Given the description of an element on the screen output the (x, y) to click on. 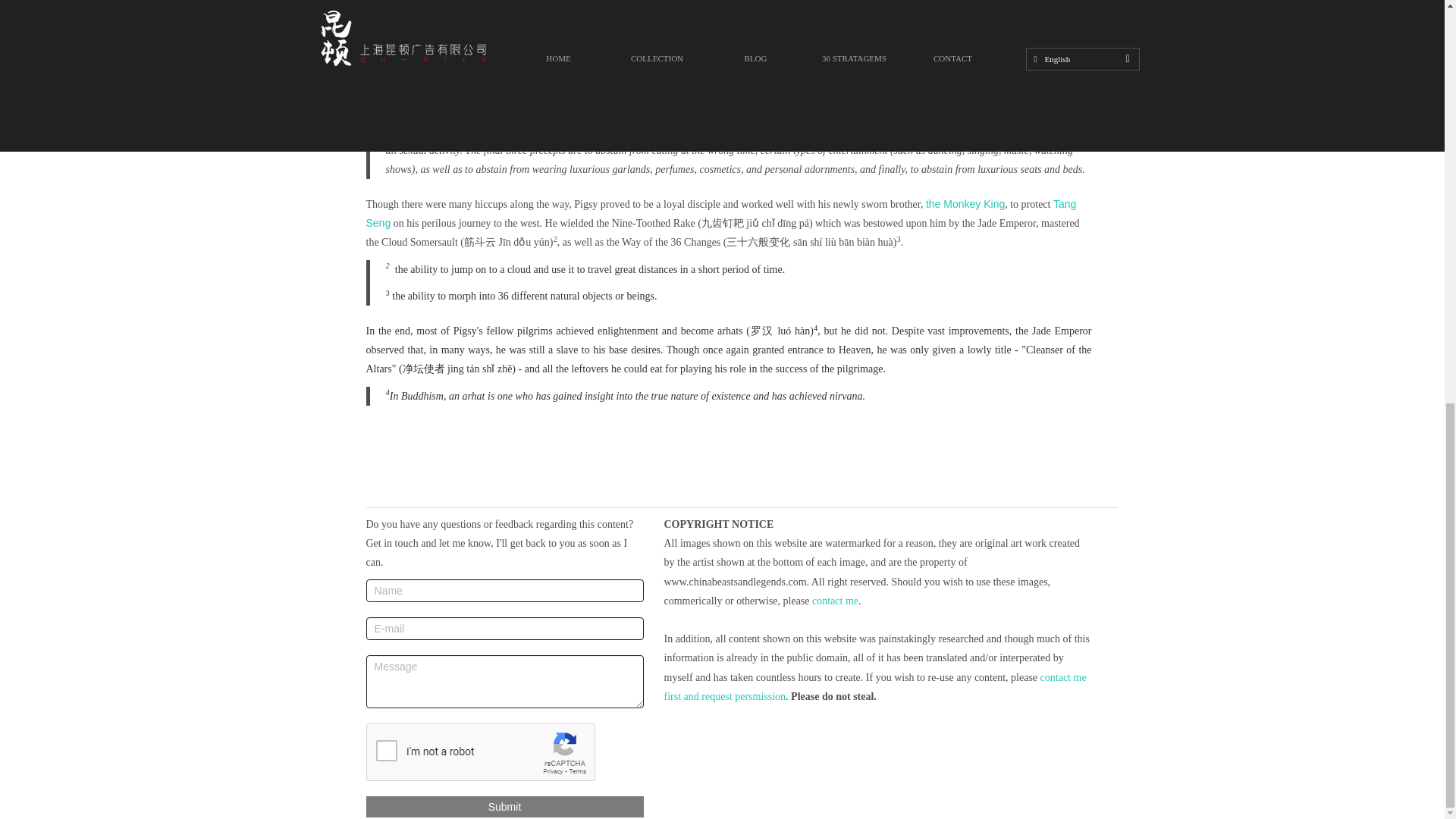
Submit (504, 806)
contact me first and request persmission (874, 685)
the Monkey King (965, 203)
contact me (835, 600)
Tang Seng (1032, 65)
Tang Seng (522, 65)
Tang Seng (720, 213)
